Given the description of an element on the screen output the (x, y) to click on. 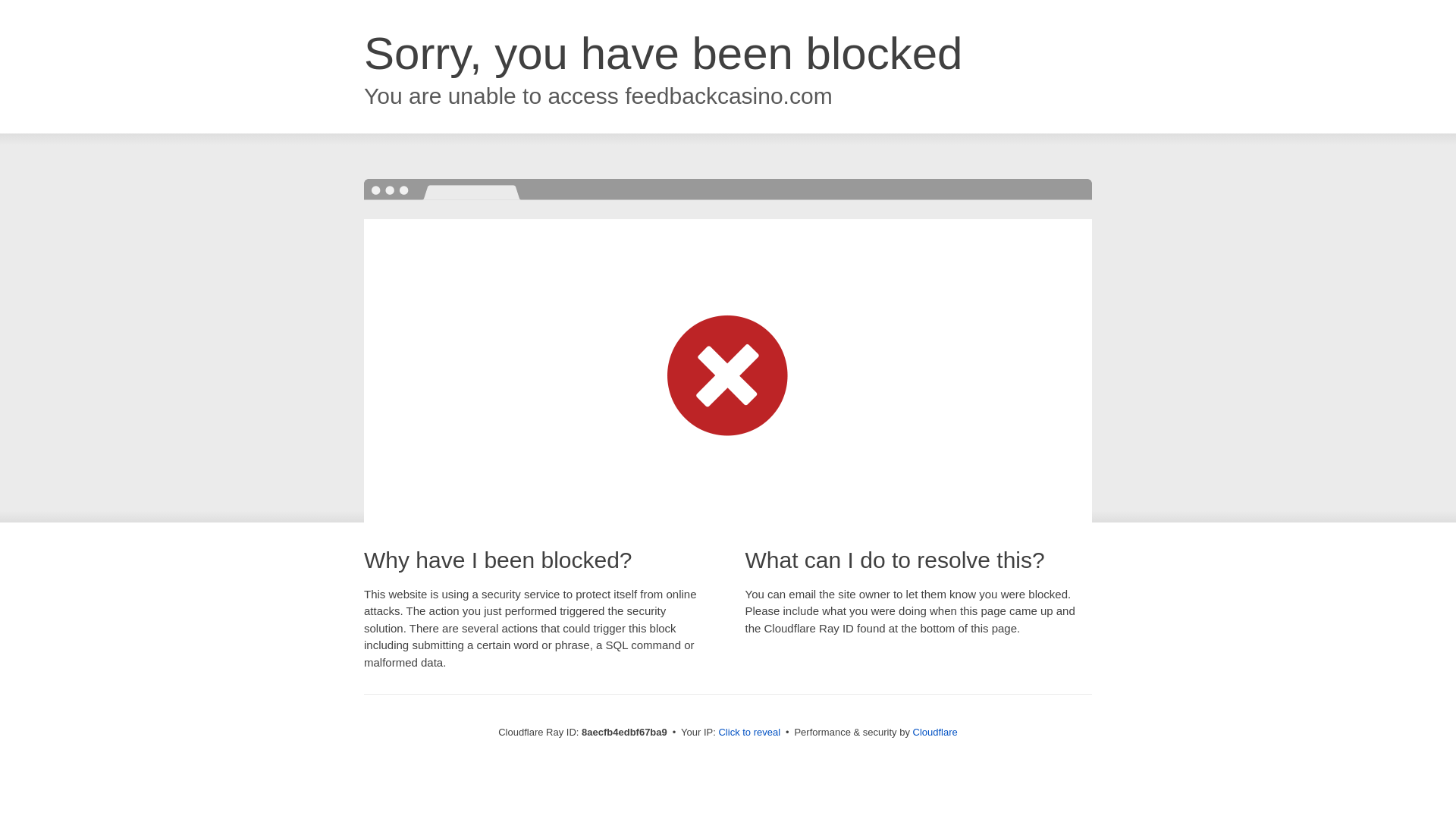
Click to reveal (748, 732)
Cloudflare (935, 731)
